Given the description of an element on the screen output the (x, y) to click on. 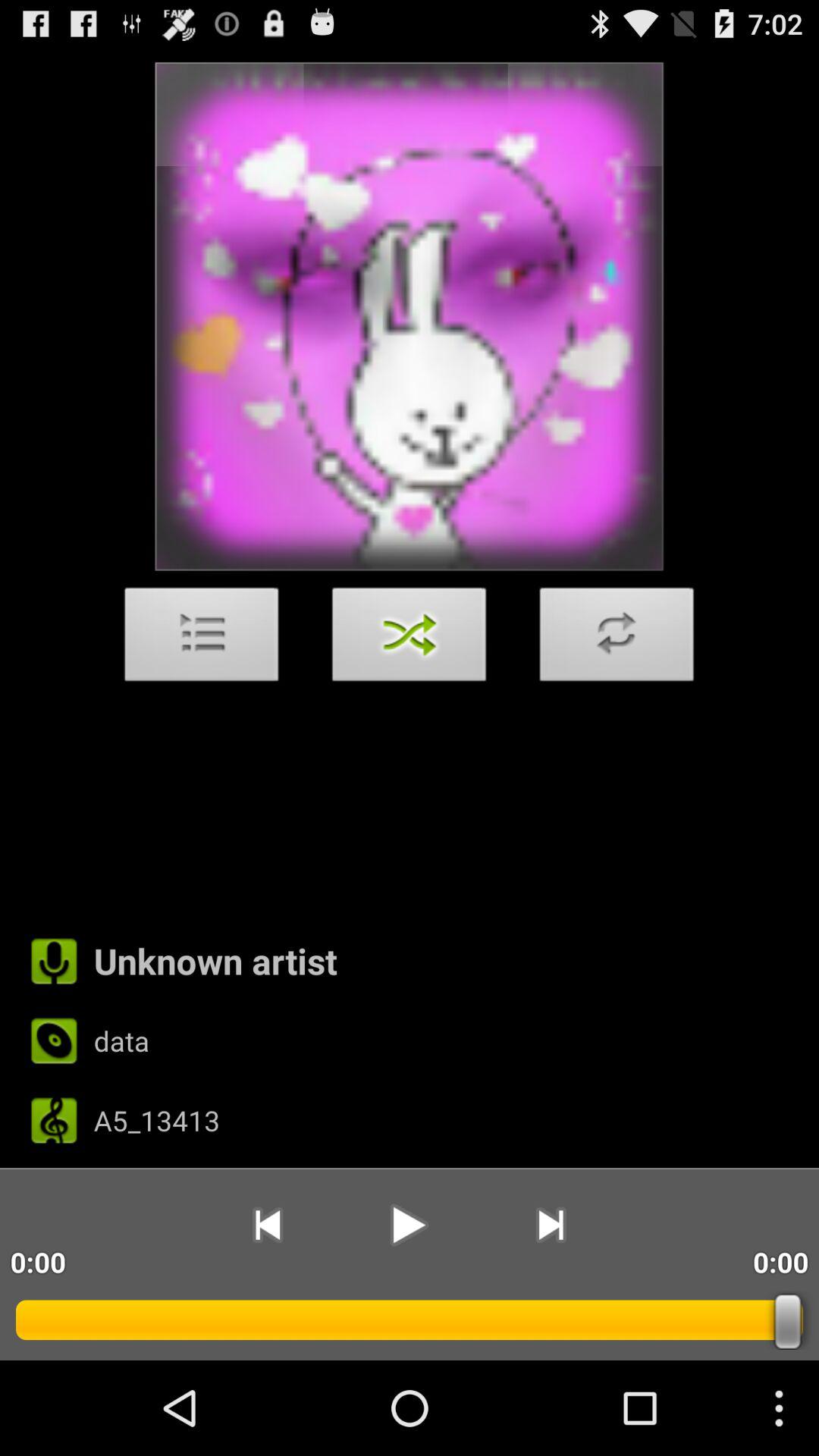
select app above the unknown artist app (616, 638)
